Given the description of an element on the screen output the (x, y) to click on. 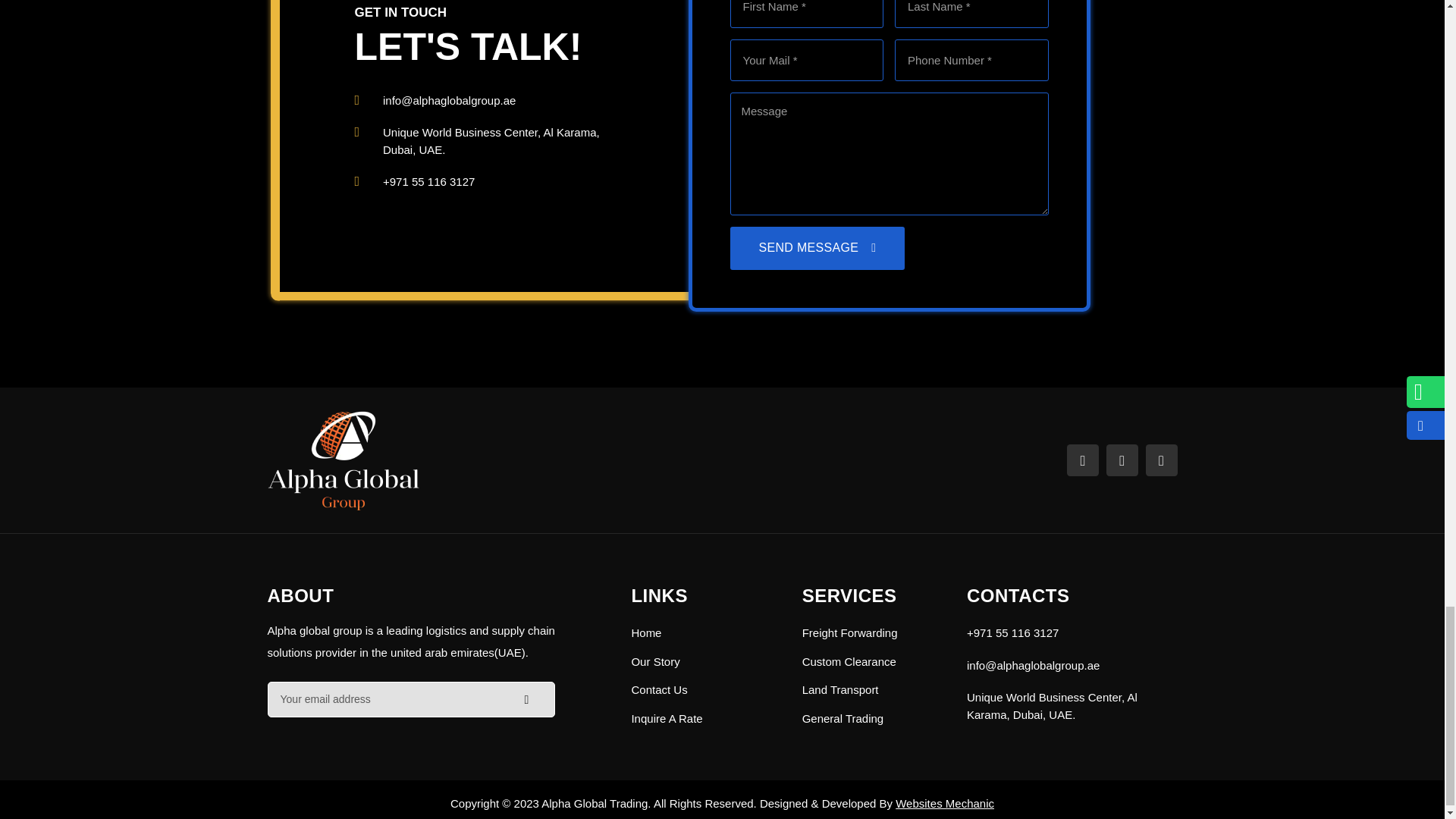
SEND MESSAGE (816, 248)
Home (704, 633)
Our Story (704, 661)
